Given the description of an element on the screen output the (x, y) to click on. 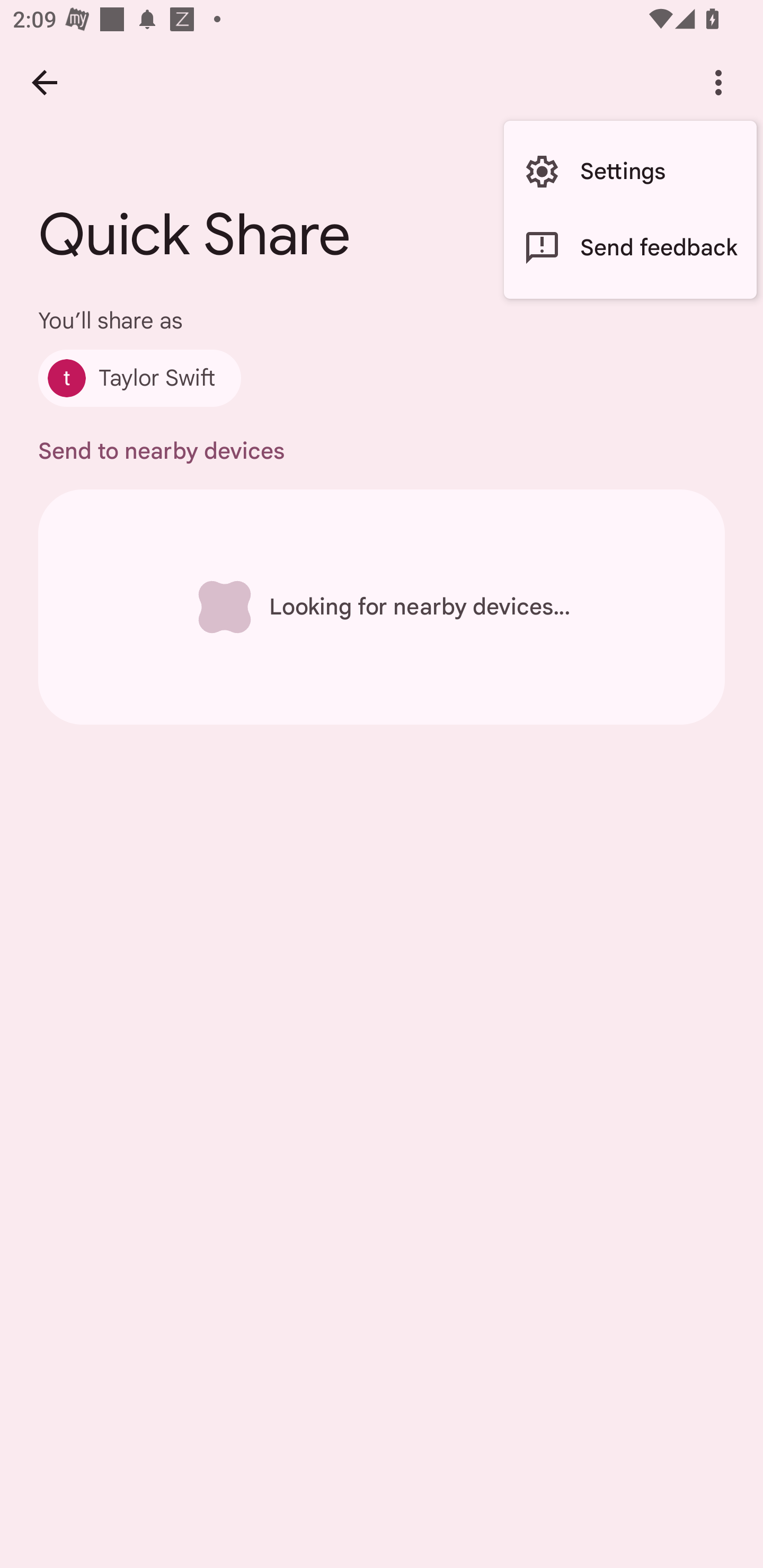
Settings (629, 171)
Send feedback (629, 247)
